Given the description of an element on the screen output the (x, y) to click on. 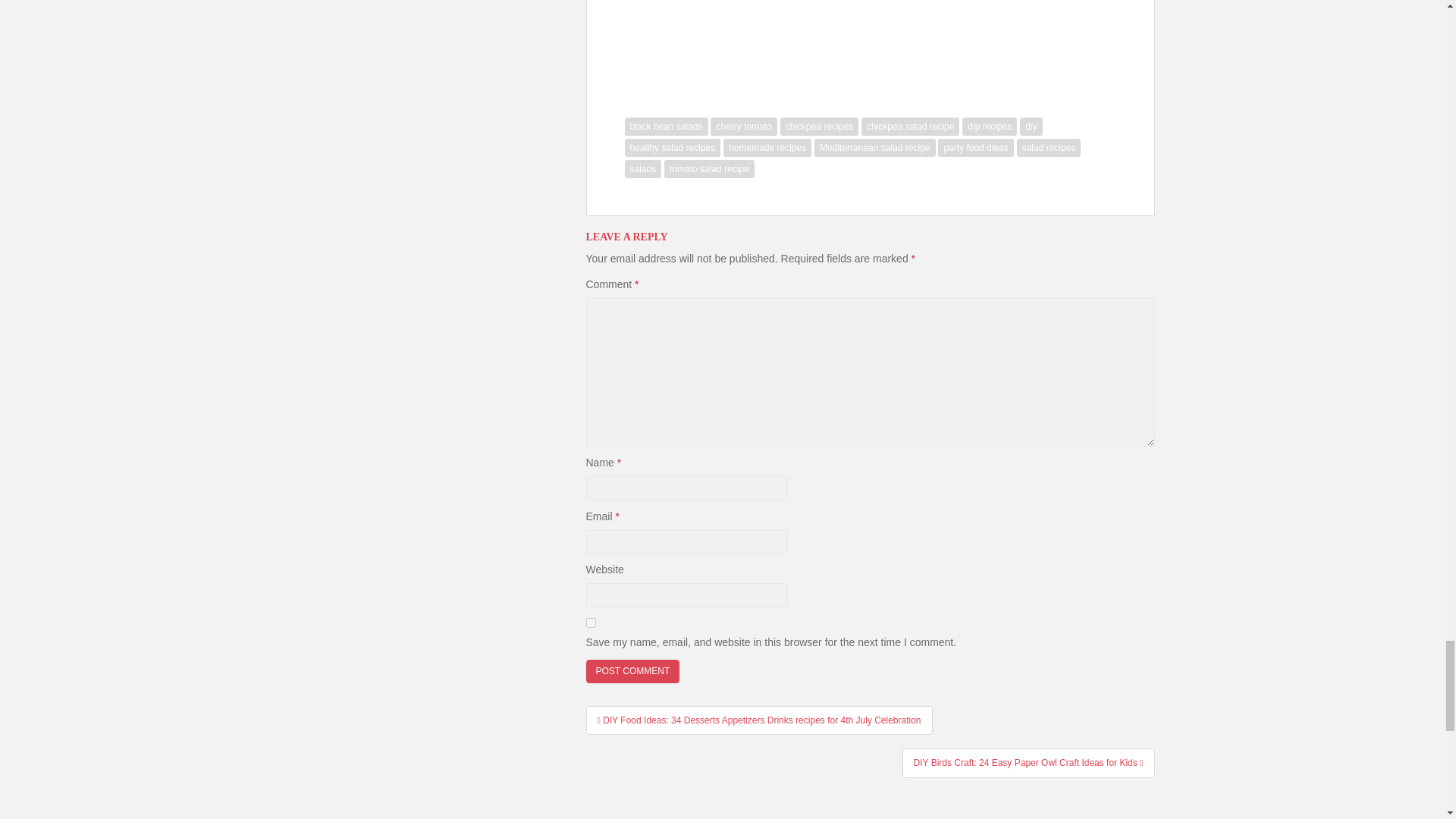
Post Comment (632, 671)
yes (590, 623)
